Given the description of an element on the screen output the (x, y) to click on. 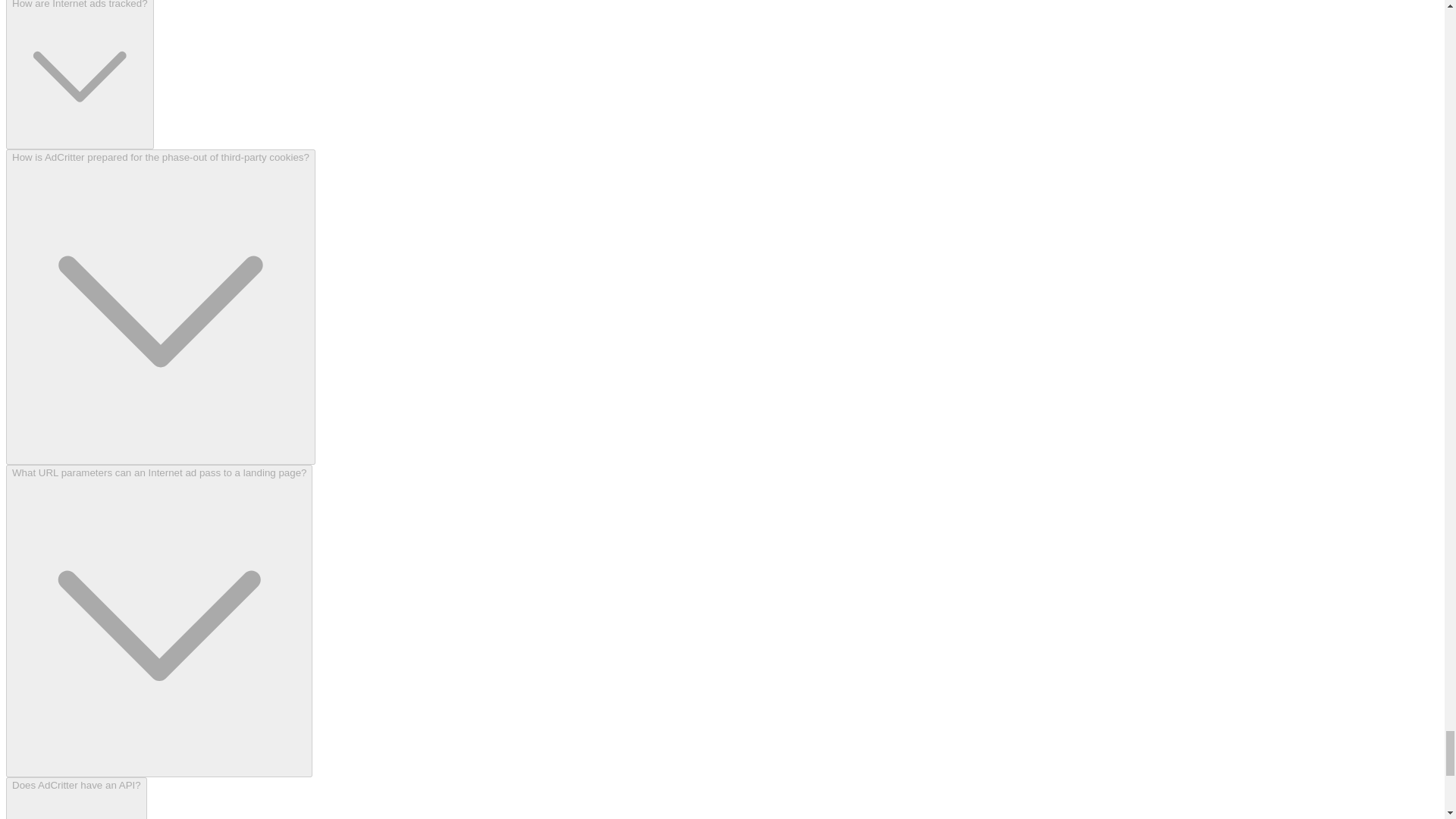
How are Internet ads tracked? (79, 74)
Does AdCritter have an API? (76, 798)
